Given the description of an element on the screen output the (x, y) to click on. 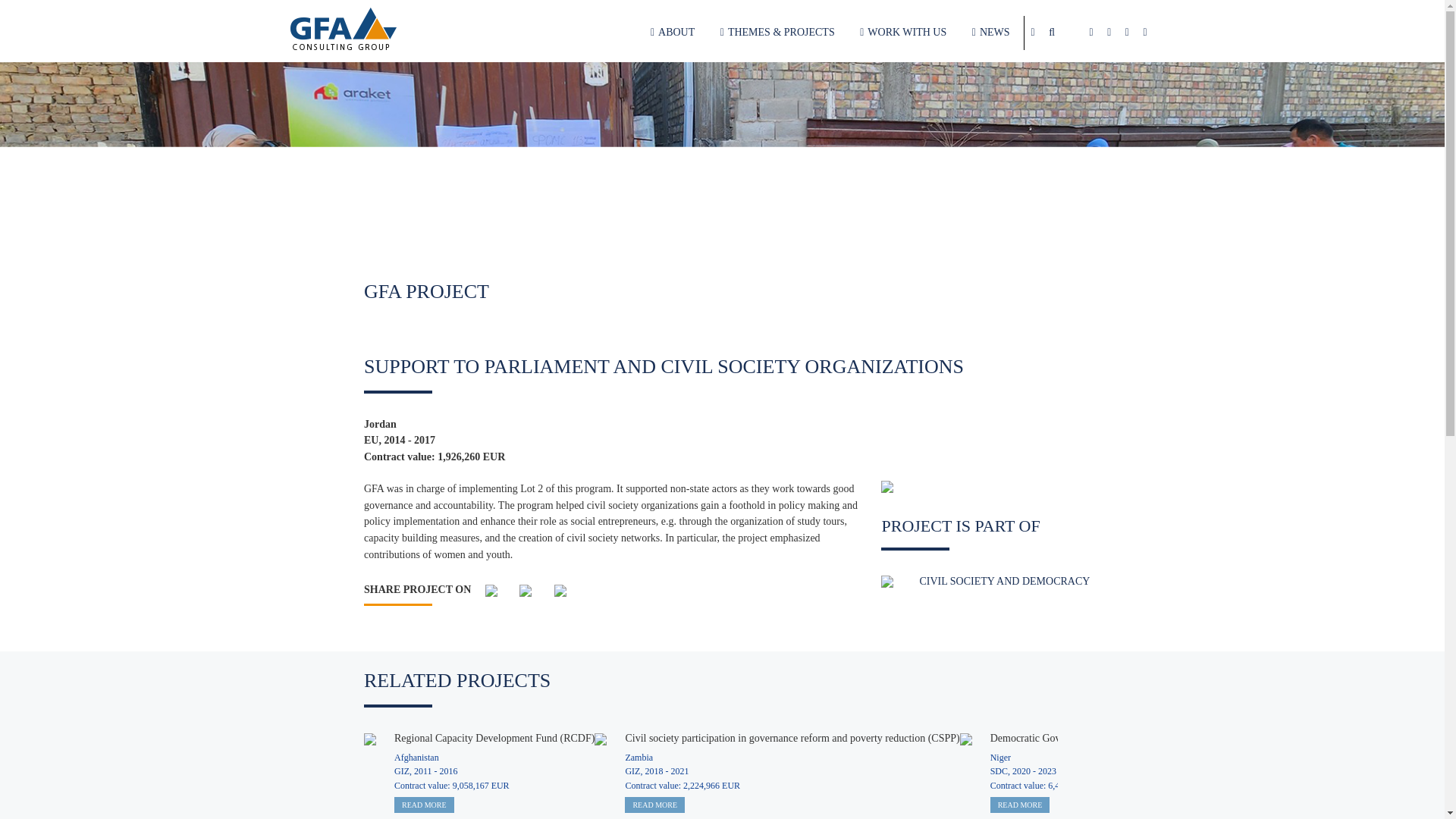
ABOUT (672, 31)
NEWS (991, 31)
WORK WITH US (903, 31)
